Given the description of an element on the screen output the (x, y) to click on. 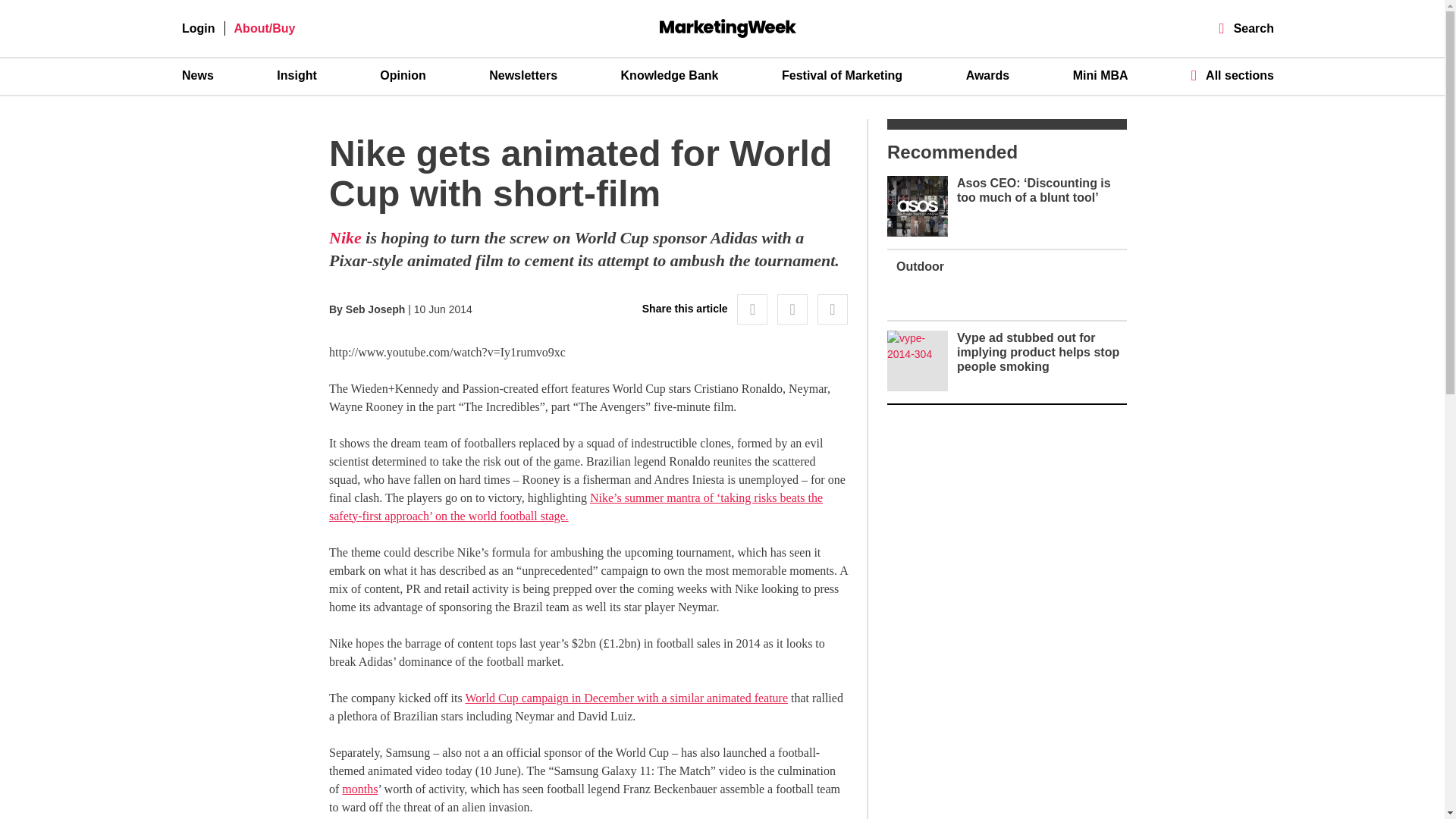
News (198, 75)
Login (198, 28)
Awards (988, 75)
Opinion (402, 75)
Knowledge Bank (670, 75)
Festival of Marketing (841, 75)
Search (1247, 28)
Insight (295, 75)
Nike (345, 237)
